Given the description of an element on the screen output the (x, y) to click on. 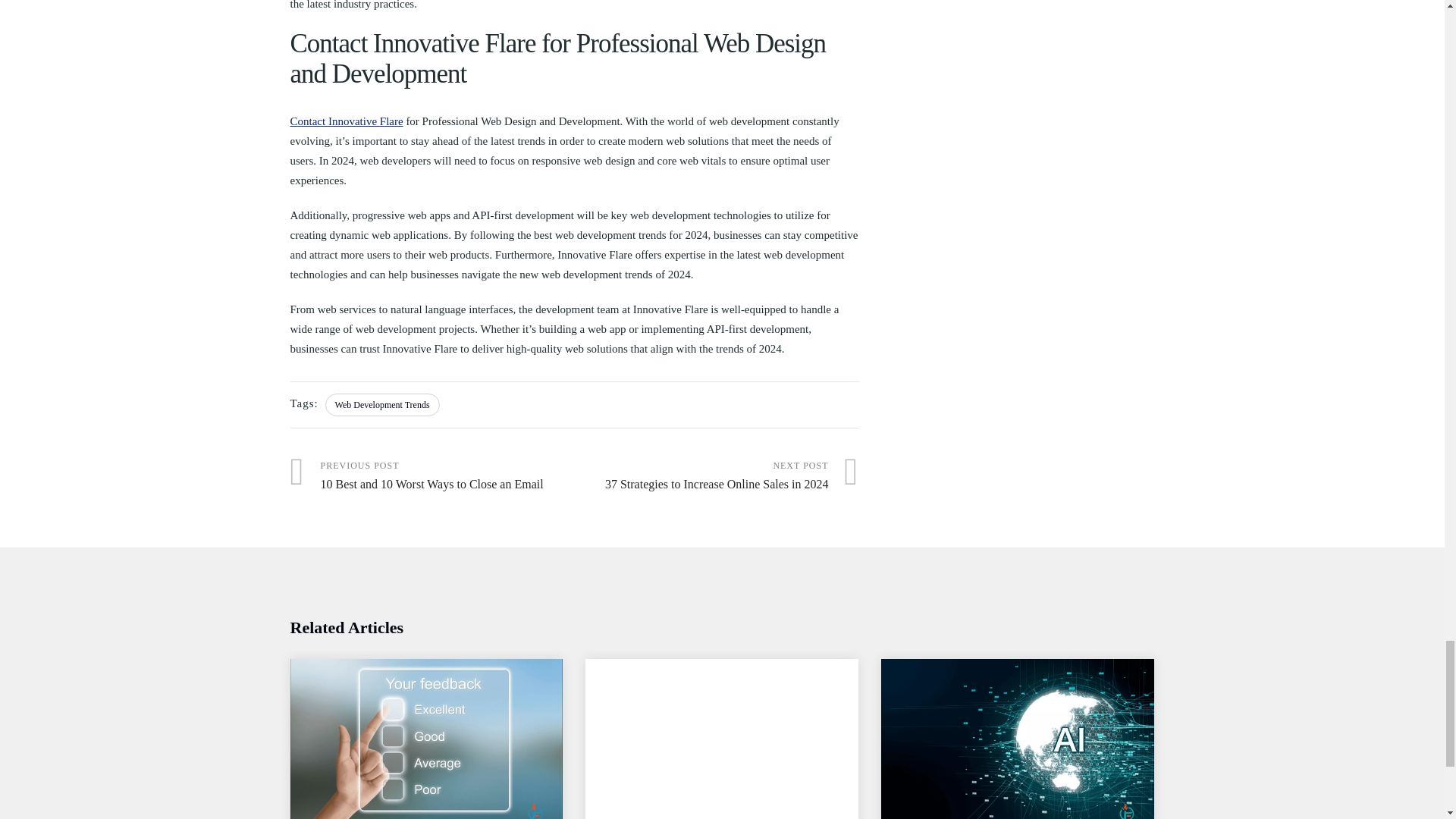
37 Strategies to Increase Online Sales in 2024 (717, 476)
10 Best and 10 Worst Ways to Close an Email (431, 476)
